Given the description of an element on the screen output the (x, y) to click on. 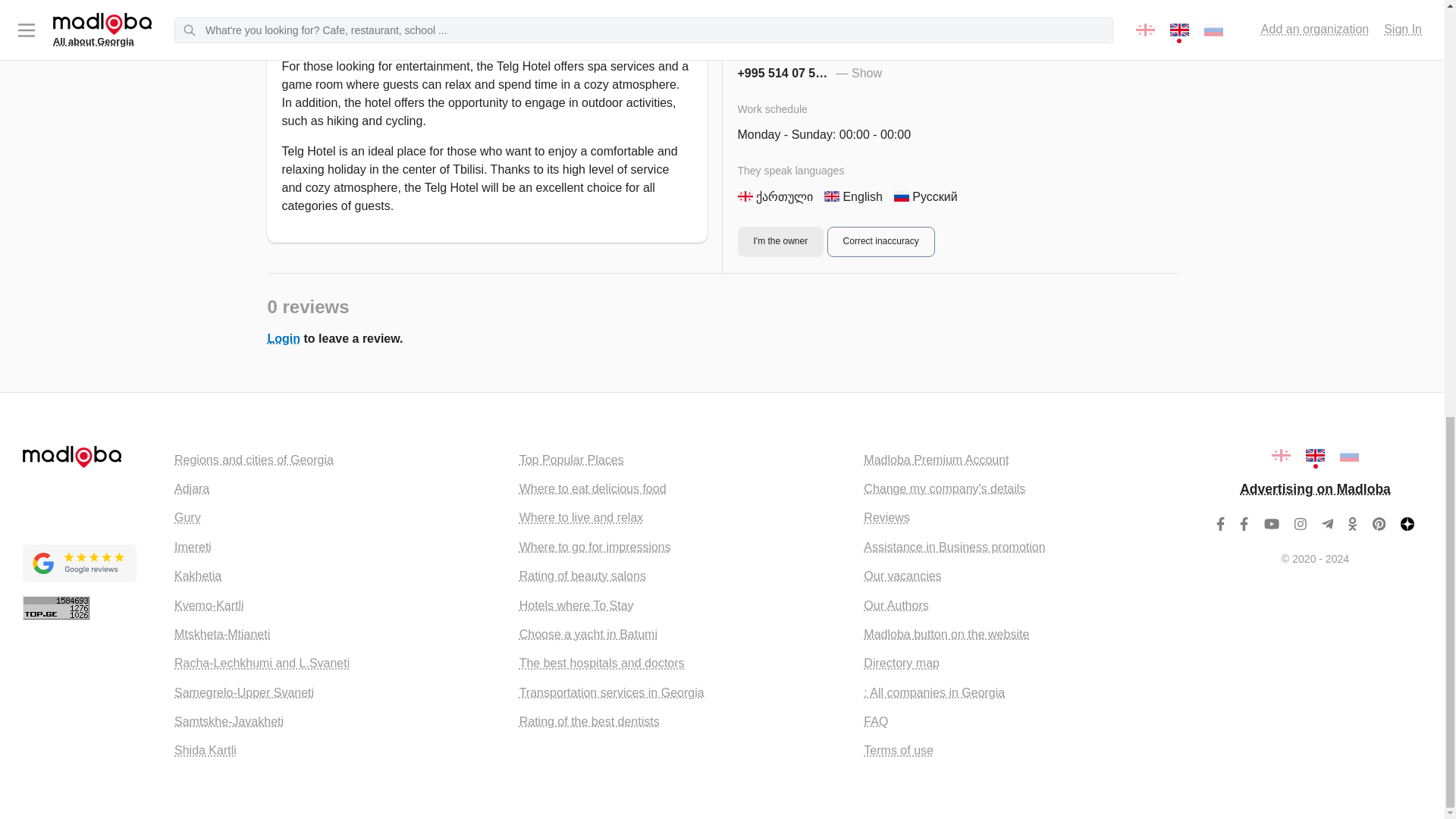
TOP.GE (55, 607)
Gury (187, 517)
Login (282, 338)
Kakhetia (197, 575)
Adjara (191, 488)
Correct inaccuracy (880, 13)
Regions and cities of Georgia (253, 459)
Imereti (192, 546)
I'm the owner (780, 13)
